Given the description of an element on the screen output the (x, y) to click on. 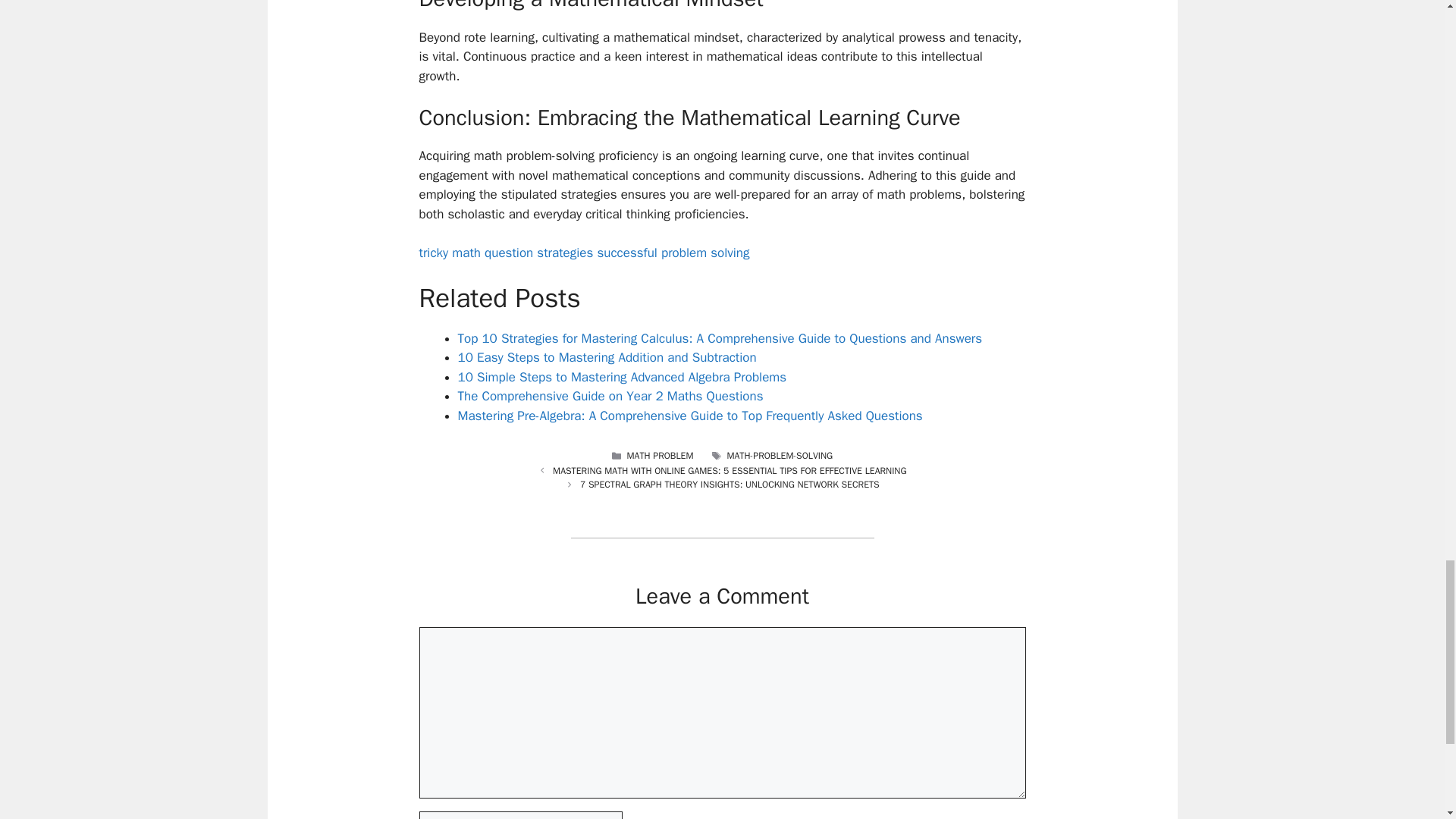
7 SPECTRAL GRAPH THEORY INSIGHTS: UNLOCKING NETWORK SECRETS (729, 484)
The Comprehensive Guide on Year 2 Maths Questions (610, 396)
MATH-PROBLEM-SOLVING (779, 455)
MATH PROBLEM (659, 455)
10 Easy Steps to Mastering Addition and Subtraction (607, 357)
10 Simple Steps to Mastering Advanced Algebra Problems (622, 376)
tricky math question strategies successful problem solving (584, 252)
